Given the description of an element on the screen output the (x, y) to click on. 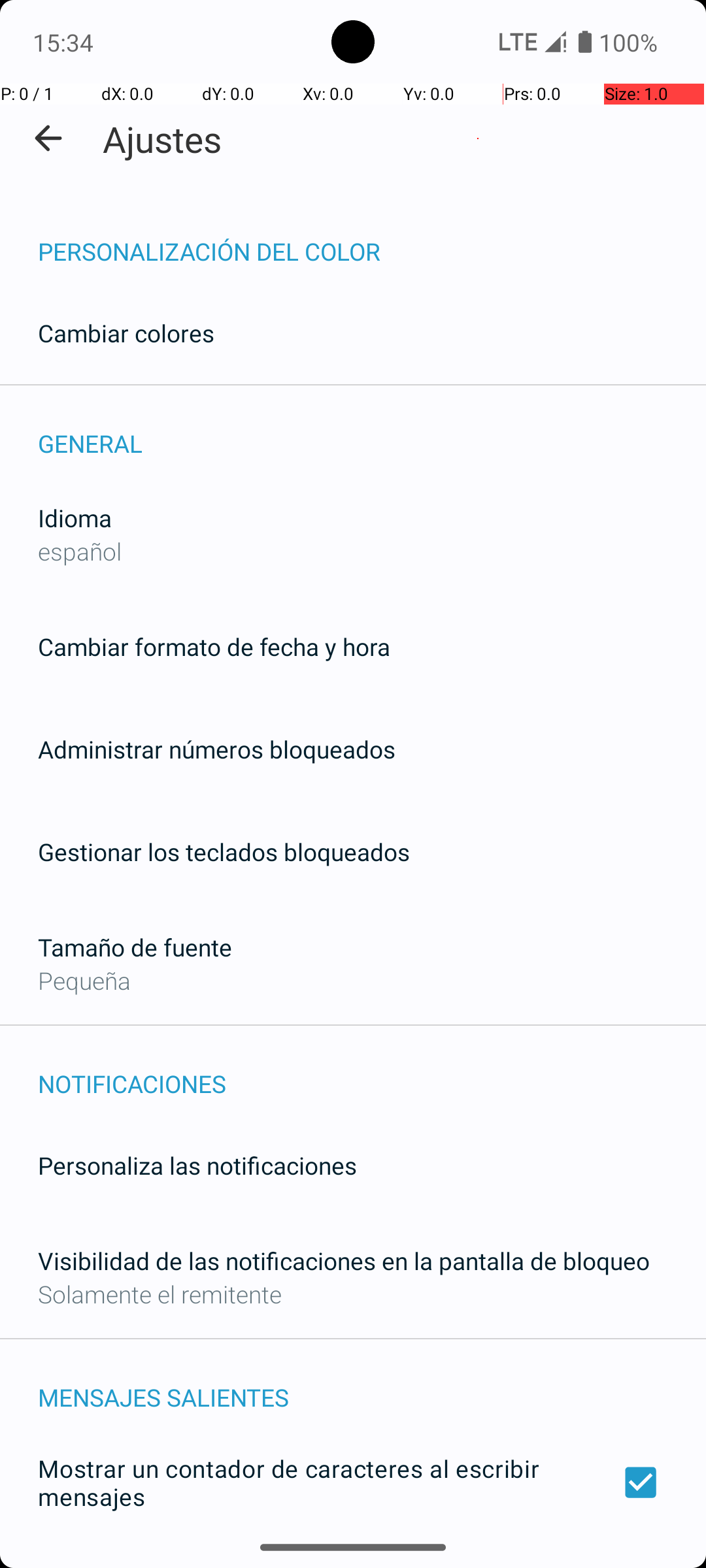
NOTIFICACIONES Element type: android.widget.TextView (371, 1069)
MENSAJES SALIENTES Element type: android.widget.TextView (371, 1383)
Cambiar formato de fecha y hora Element type: android.widget.TextView (213, 646)
Administrar números bloqueados Element type: android.widget.TextView (216, 748)
Gestionar los teclados bloqueados Element type: android.widget.TextView (223, 851)
Tamaño de fuente Element type: android.widget.TextView (134, 946)
Pequeña Element type: android.widget.TextView (83, 979)
Visibilidad de las notificaciones en la pantalla de bloqueo Element type: android.widget.TextView (343, 1260)
Solamente el remitente Element type: android.widget.TextView (159, 1293)
Mostrar un contador de caracteres al escribir mensajes Element type: android.widget.CheckBox (352, 1482)
Elimina los acentos y signos diacríticos al enviar mensajes Element type: android.widget.CheckBox (352, 1559)
